Given the description of an element on the screen output the (x, y) to click on. 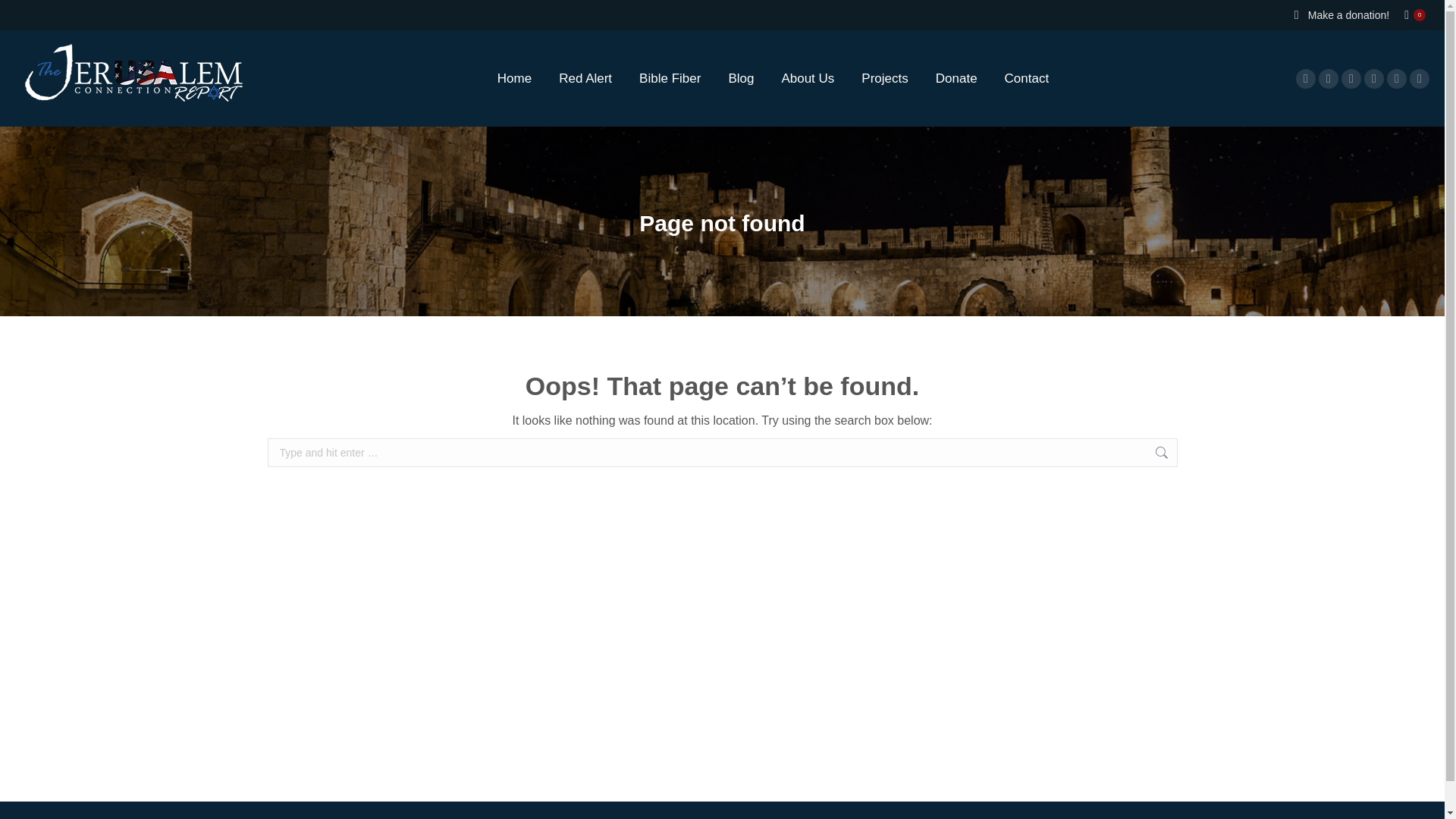
Bible Fiber (669, 78)
X page opens in new window (1328, 78)
Make a donation! (1348, 14)
YouTube page opens in new window (1350, 78)
Linkedin page opens in new window (1374, 78)
 0 (1415, 14)
Rss page opens in new window (1419, 78)
Go! (1200, 454)
Facebook page opens in new window (1305, 78)
Pinterest page opens in new window (1396, 78)
